Given the description of an element on the screen output the (x, y) to click on. 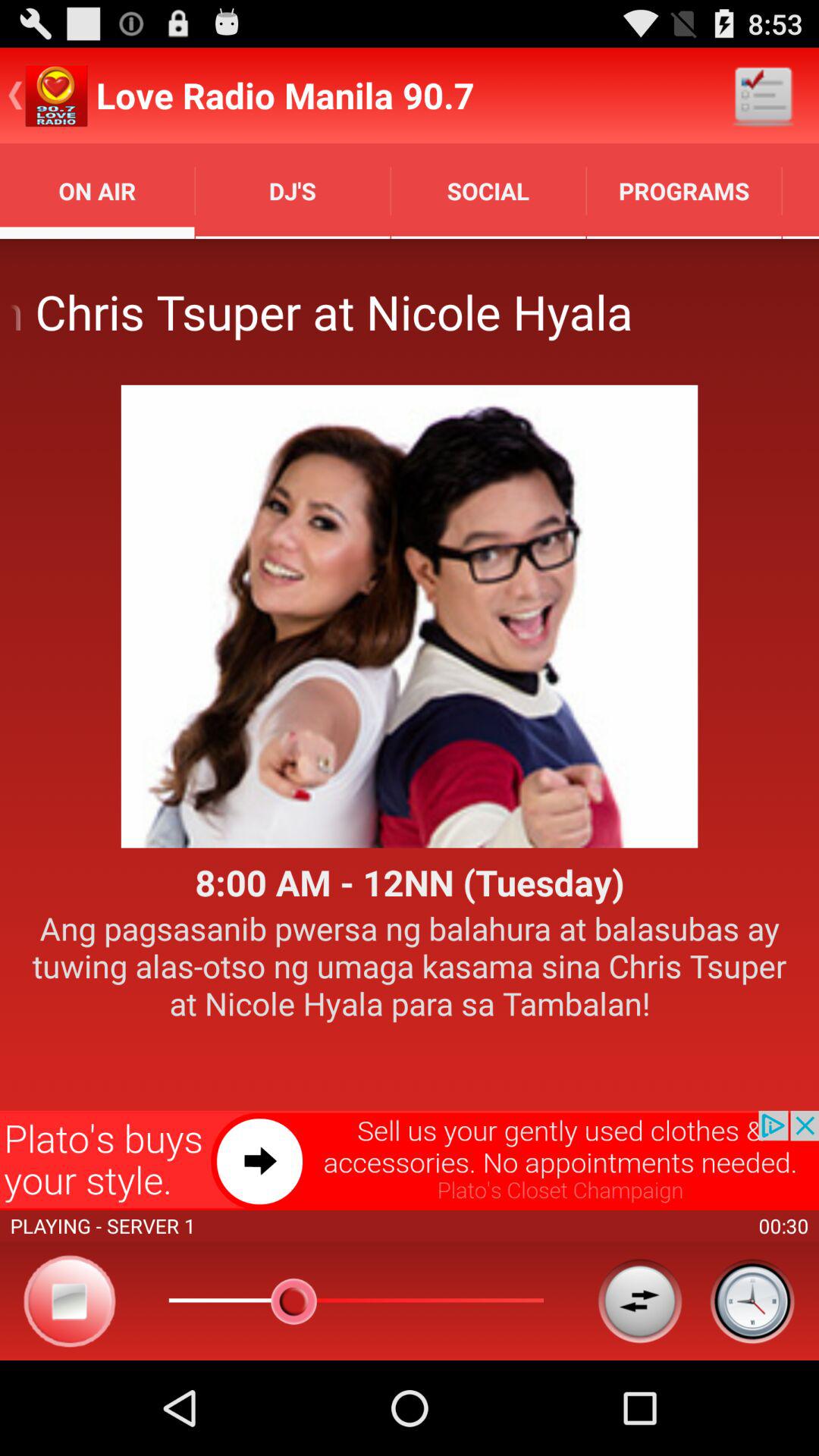
choose option (639, 1300)
